Given the description of an element on the screen output the (x, y) to click on. 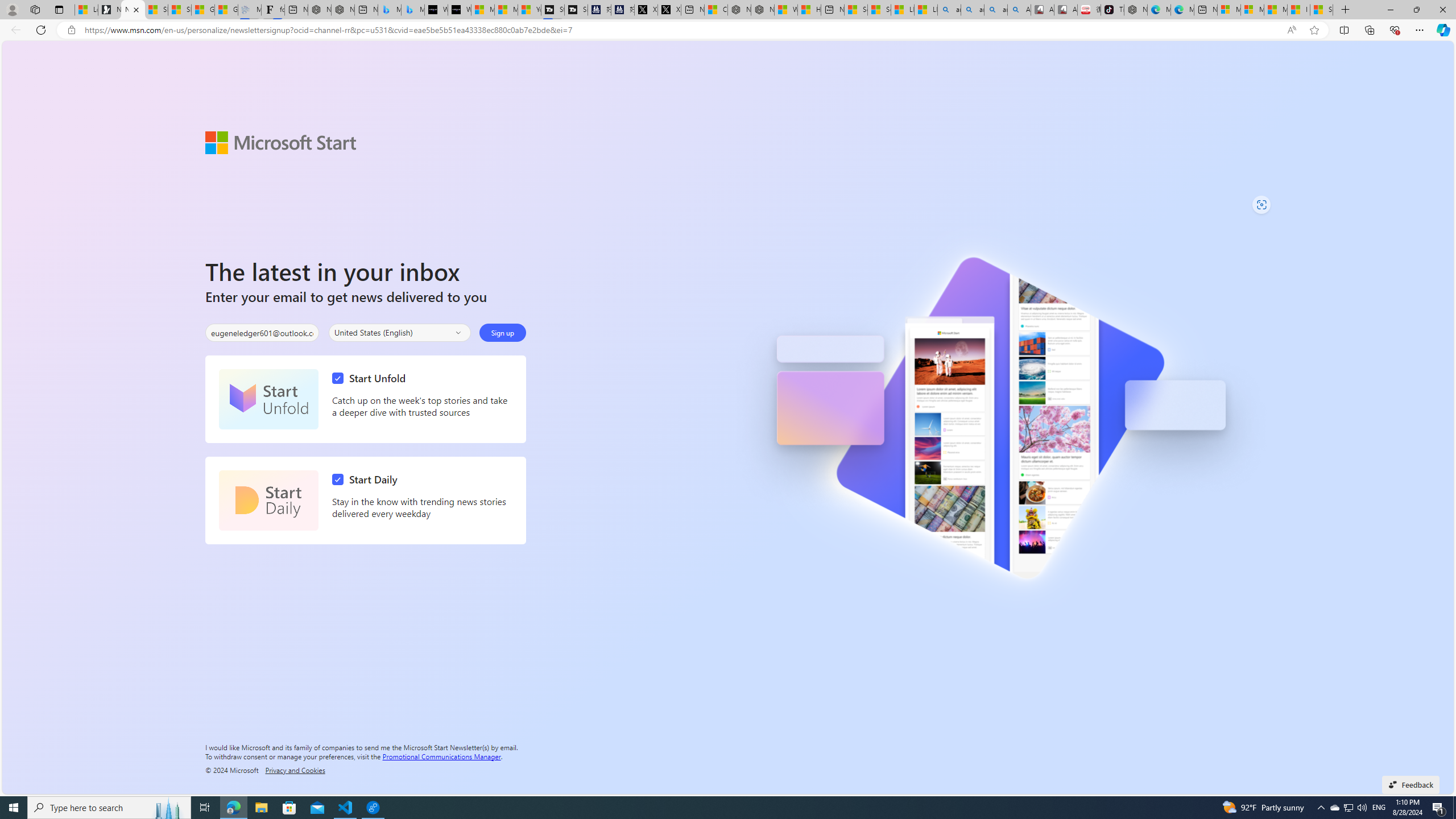
Sign up (502, 332)
Newsletter Sign Up (132, 9)
App bar (728, 29)
X (668, 9)
Huge shark washes ashore at New York City beach | Watch (809, 9)
I Gained 20 Pounds of Muscle in 30 Days! | Watch (1298, 9)
